Given the description of an element on the screen output the (x, y) to click on. 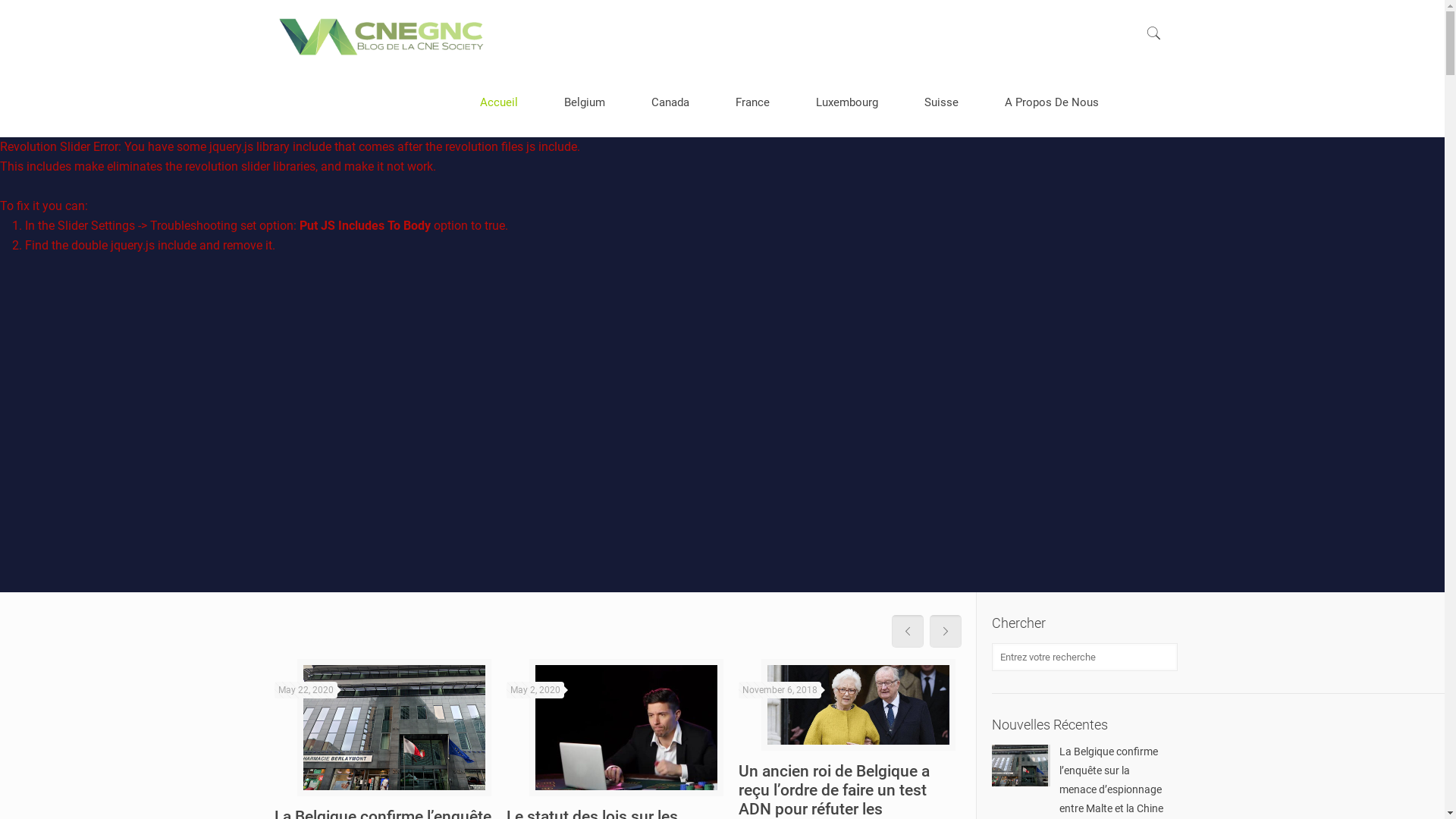
A Propos De Nous Element type: text (1051, 102)
Suisse Element type: text (941, 102)
Accueil Element type: text (498, 102)
Caine Geneca Element type: hover (379, 34)
Luxembourg Element type: text (847, 102)
Belgium Element type: text (584, 102)
France Element type: text (752, 102)
Canada Element type: text (670, 102)
